Given the description of an element on the screen output the (x, y) to click on. 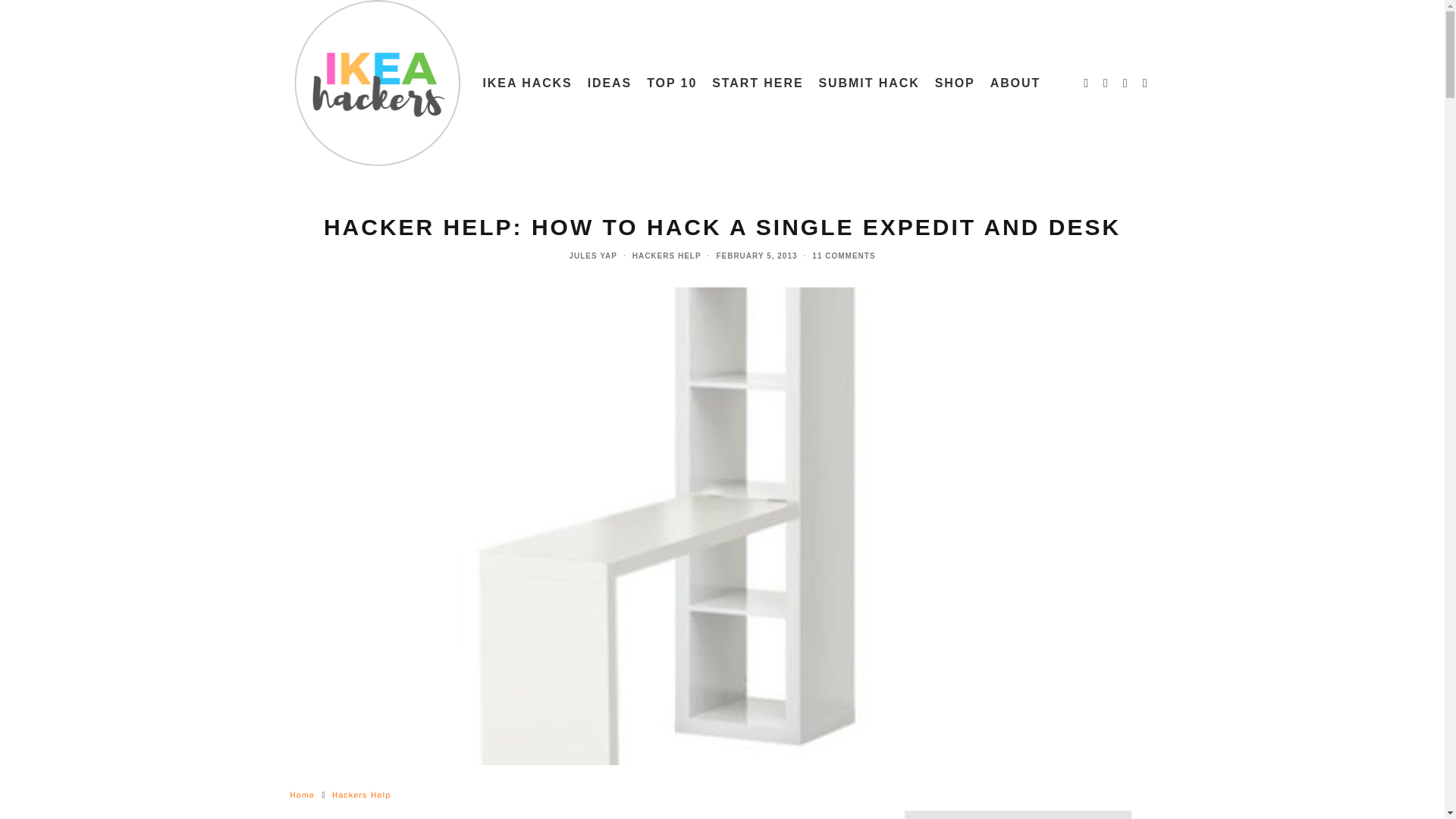
Home (301, 794)
TOP 10 (671, 83)
IKEA Ideas by Categories (609, 83)
Hackers Help (360, 794)
HACKERS HELP (666, 255)
IKEA Hacks by Categories (526, 83)
SUBMIT HACK (868, 83)
More about IKEA Hackers (1015, 83)
How to send in your hack (868, 83)
Hack of the Year (671, 83)
START HERE (757, 83)
IDEAS (609, 83)
ABOUT (1015, 83)
SHOP (954, 83)
